Given the description of an element on the screen output the (x, y) to click on. 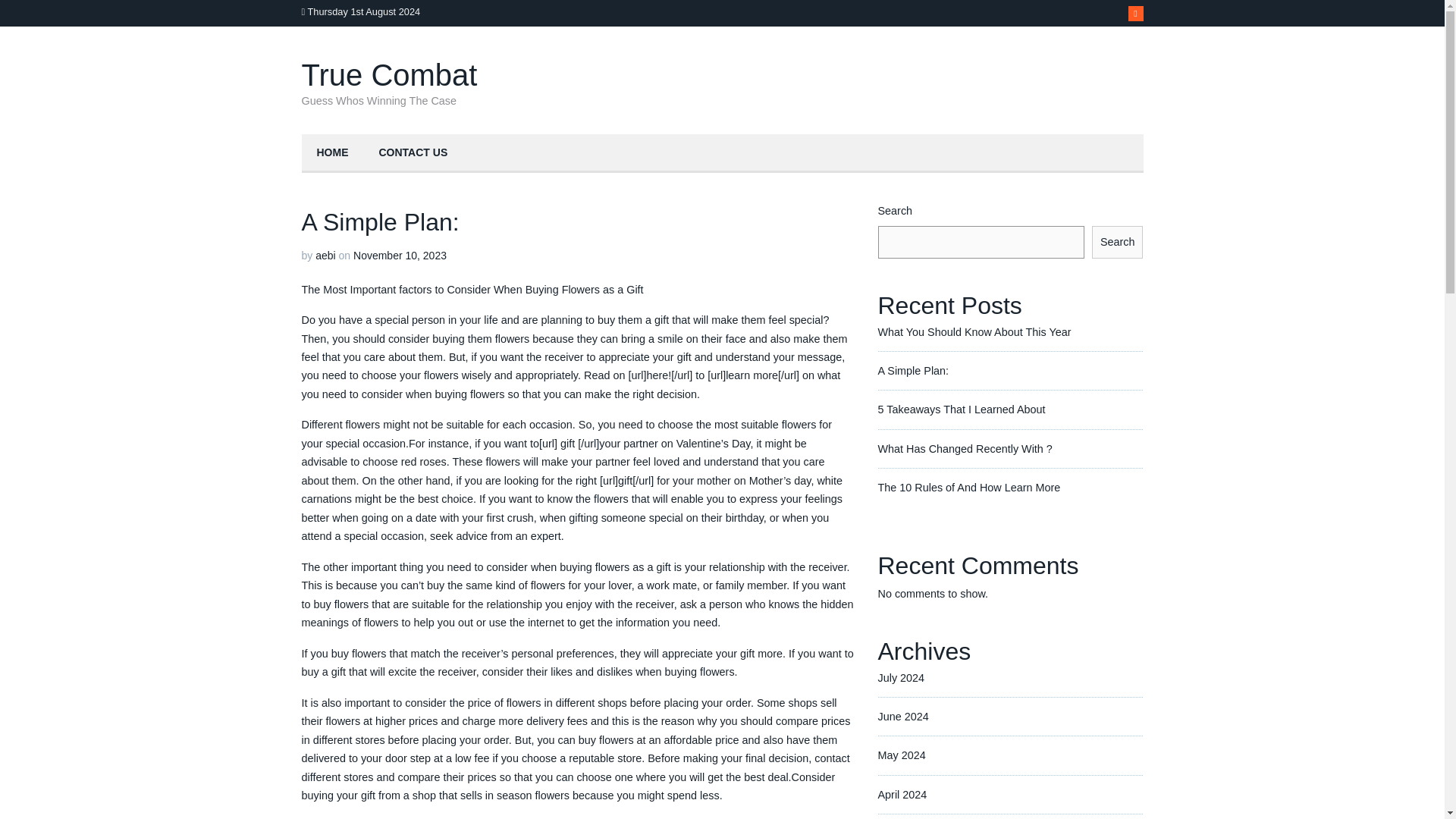
What Has Changed Recently With ? (964, 449)
May 2024 (901, 755)
CONTACT US (413, 153)
HOME (332, 153)
The 10 Rules of And How Learn More (969, 487)
July 2024 (900, 677)
November 10, 2023 (399, 255)
aebi (324, 255)
Search (1117, 241)
Contact us (413, 153)
5 Takeaways That I Learned About (961, 409)
A Simple Plan: (913, 370)
Home (332, 153)
June 2024 (902, 716)
True Combat (389, 74)
